Given the description of an element on the screen output the (x, y) to click on. 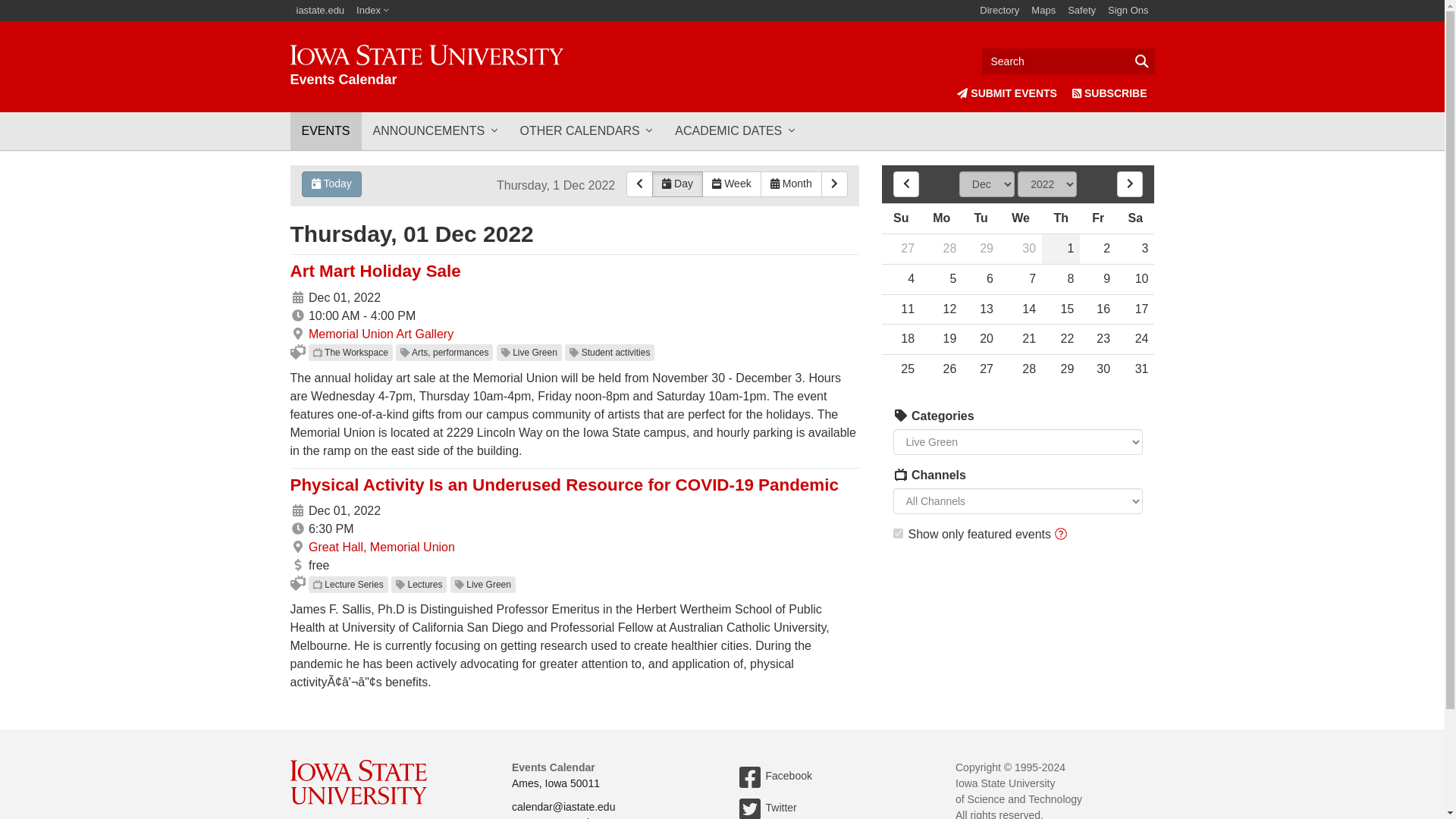
EVENTS (325, 130)
Channel (317, 352)
Date (296, 297)
Safety (1081, 10)
iastate.edu (319, 10)
Categories (900, 474)
Categories (900, 474)
Search (1067, 61)
Time (296, 528)
Categories (900, 415)
Location (296, 333)
1 (897, 533)
Home (425, 66)
SUBMIT EVENTS (1006, 93)
Directory (999, 10)
